Given the description of an element on the screen output the (x, y) to click on. 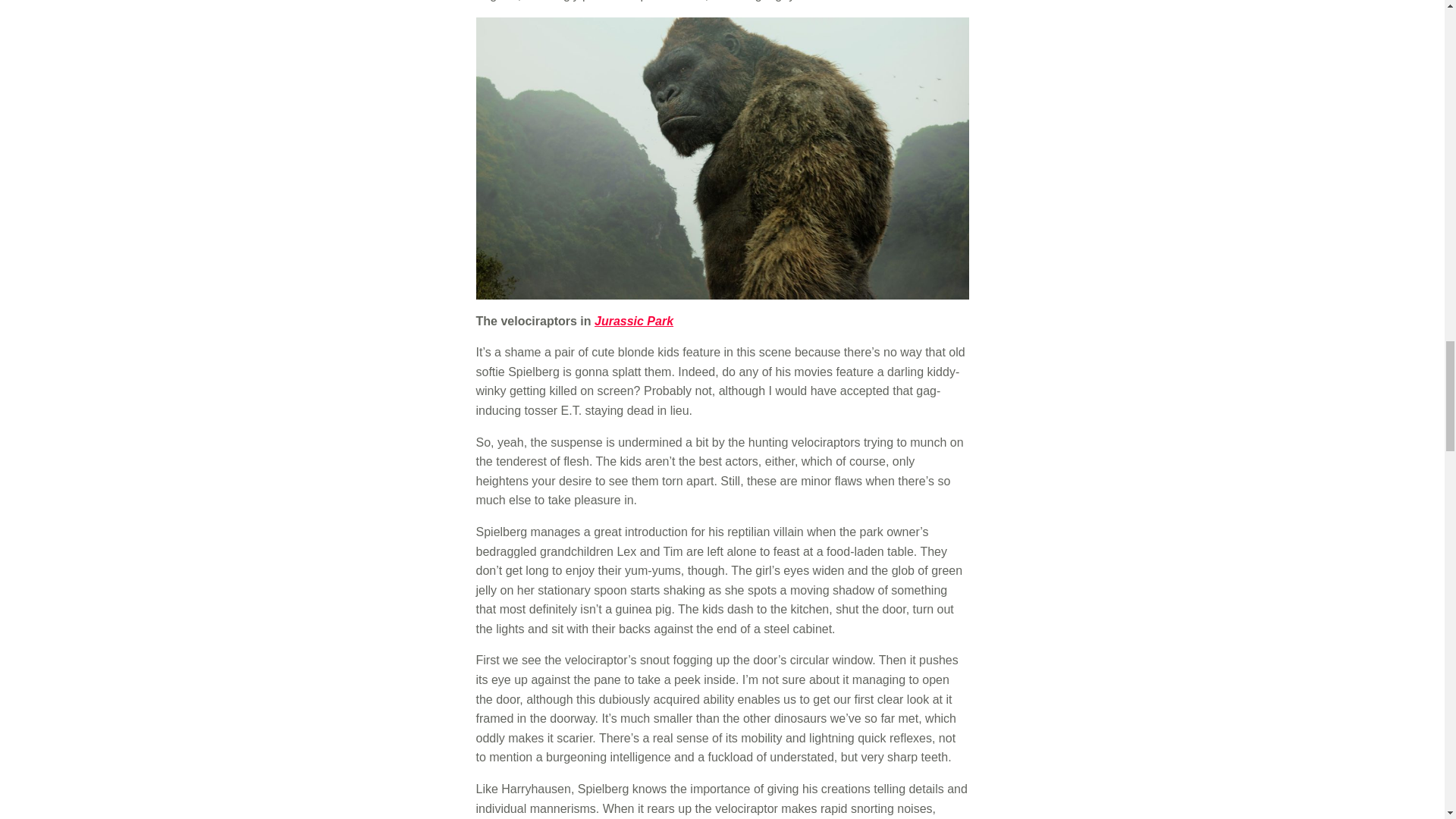
Jurassic Park (633, 320)
